Given the description of an element on the screen output the (x, y) to click on. 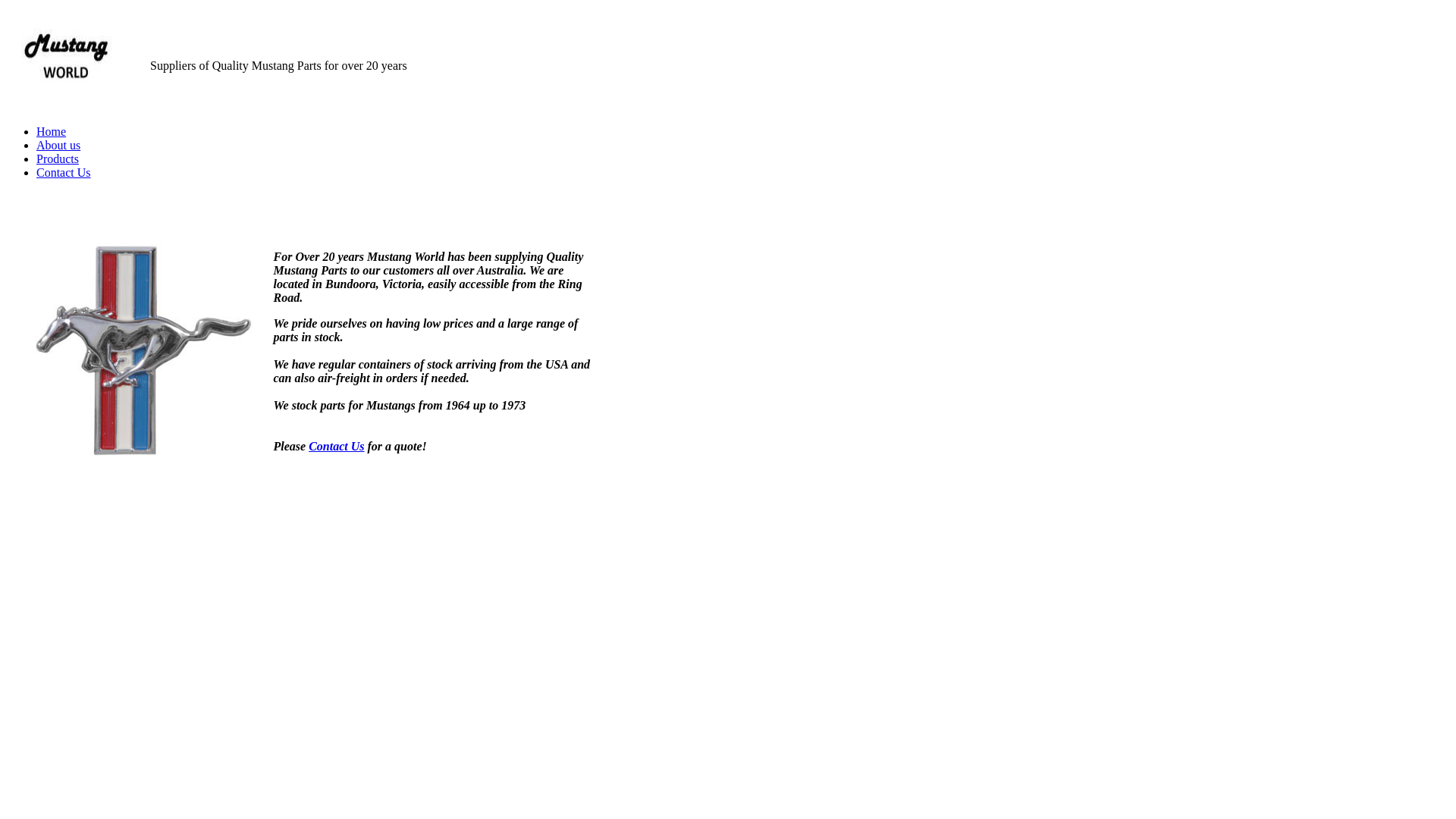
About us Element type: text (58, 144)
Products Element type: text (57, 158)
Home Element type: text (50, 131)
Contact Us Element type: text (336, 445)
Contact Us Element type: text (63, 172)
